Given the description of an element on the screen output the (x, y) to click on. 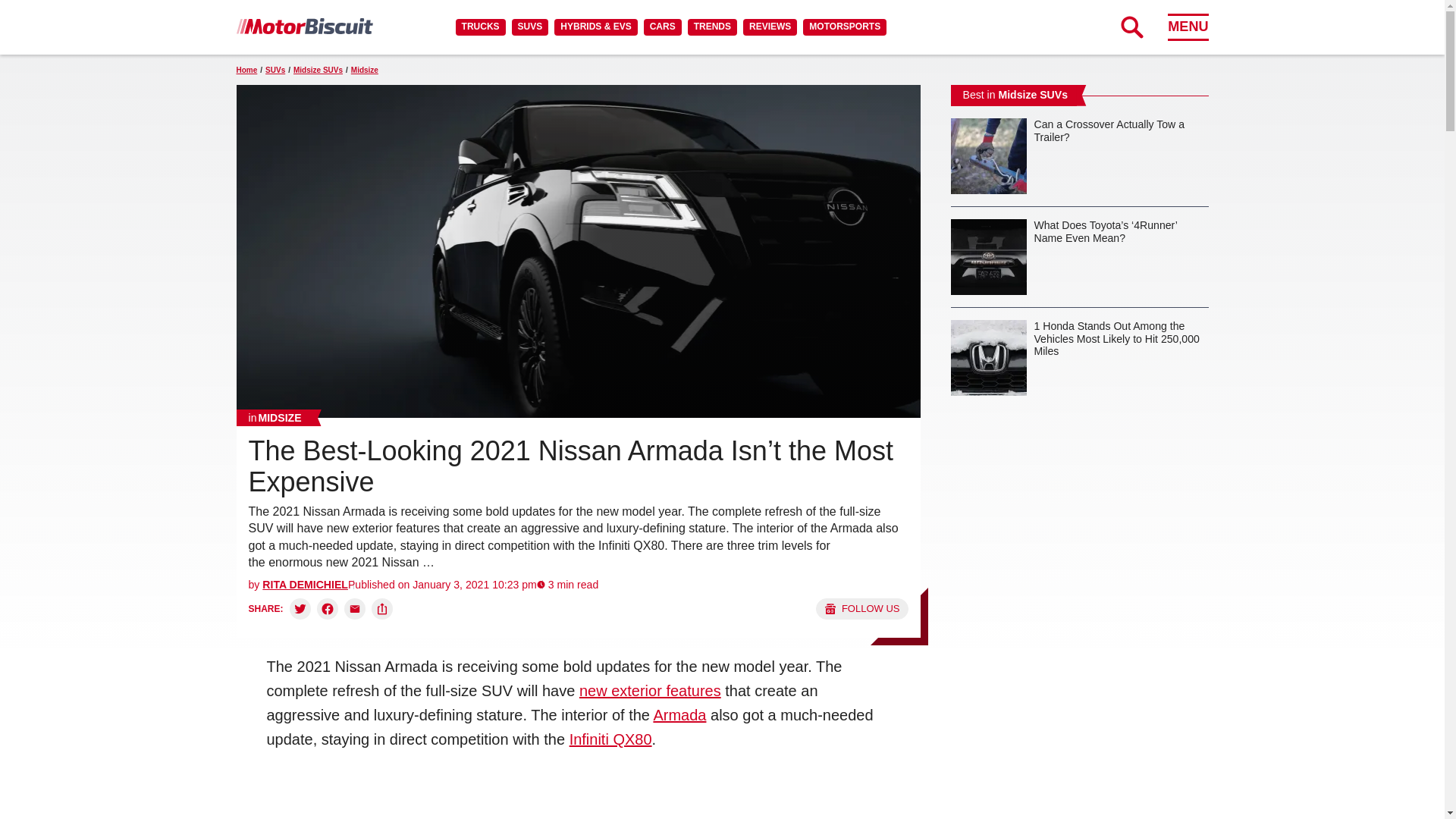
CARS (662, 26)
Copy link and share:  (382, 608)
REVIEWS (769, 26)
Midsize (274, 417)
MENU (1187, 26)
SUVS (530, 26)
MotorBiscuit (303, 26)
TRENDS (711, 26)
Follow us on Google News (861, 608)
Expand Search (1131, 26)
TRUCKS (480, 26)
MOTORSPORTS (844, 26)
